Given the description of an element on the screen output the (x, y) to click on. 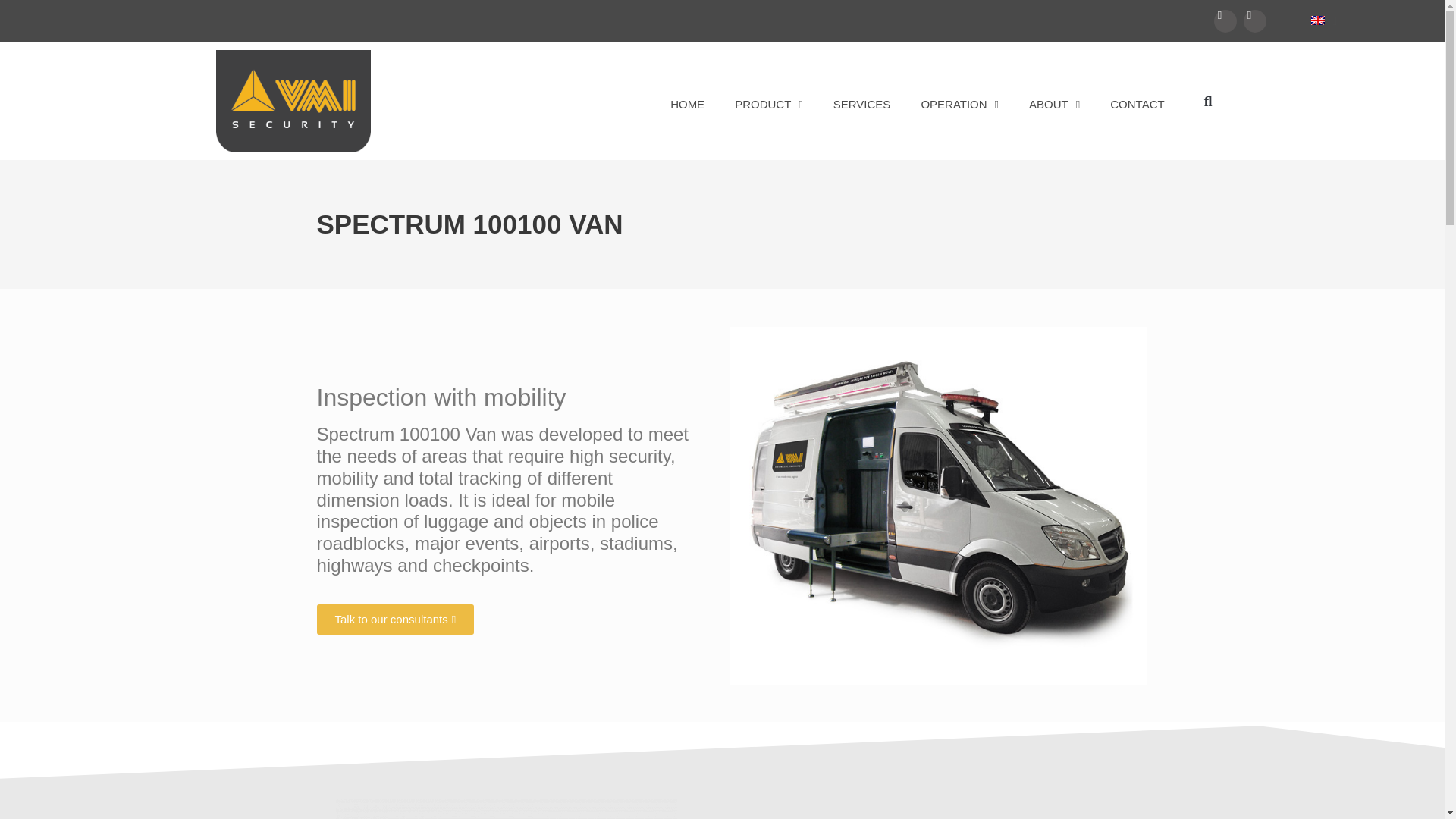
PRODUCT (768, 97)
HOME (687, 97)
